Given the description of an element on the screen output the (x, y) to click on. 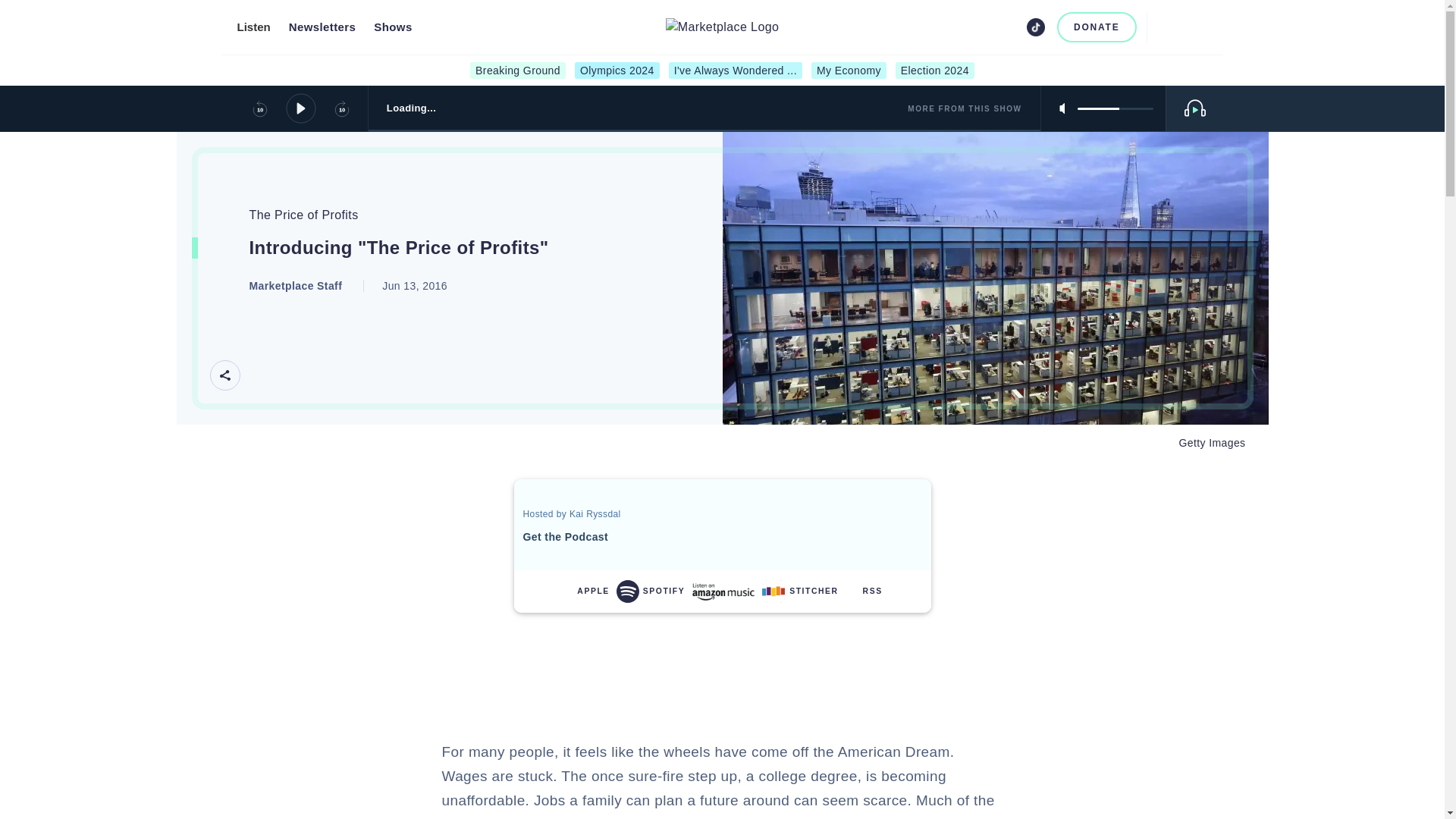
Listen (252, 26)
TikTok (1035, 27)
Youtube (1011, 27)
DONATE (1097, 27)
5 (1115, 108)
Menu (1198, 27)
Newsletters (322, 27)
Instagram (985, 27)
Shows (393, 26)
Search (1164, 27)
